Given the description of an element on the screen output the (x, y) to click on. 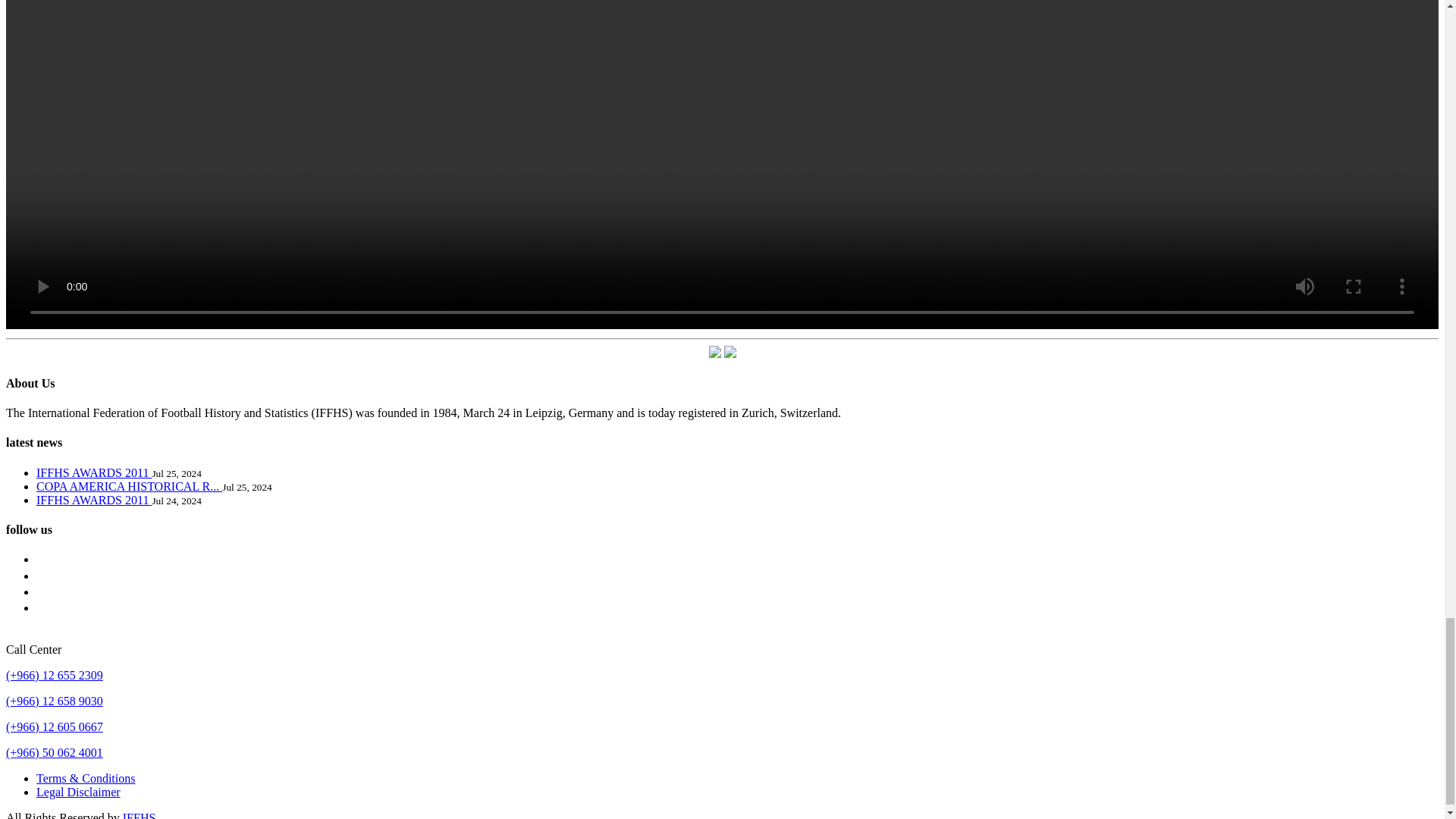
COPA AMERICA HISTORICAL R... (129, 486)
IFFHS AWARDS 2011 (93, 499)
Legal Disclaimer (78, 791)
IFFHS AWARDS 2011 (93, 472)
